Given the description of an element on the screen output the (x, y) to click on. 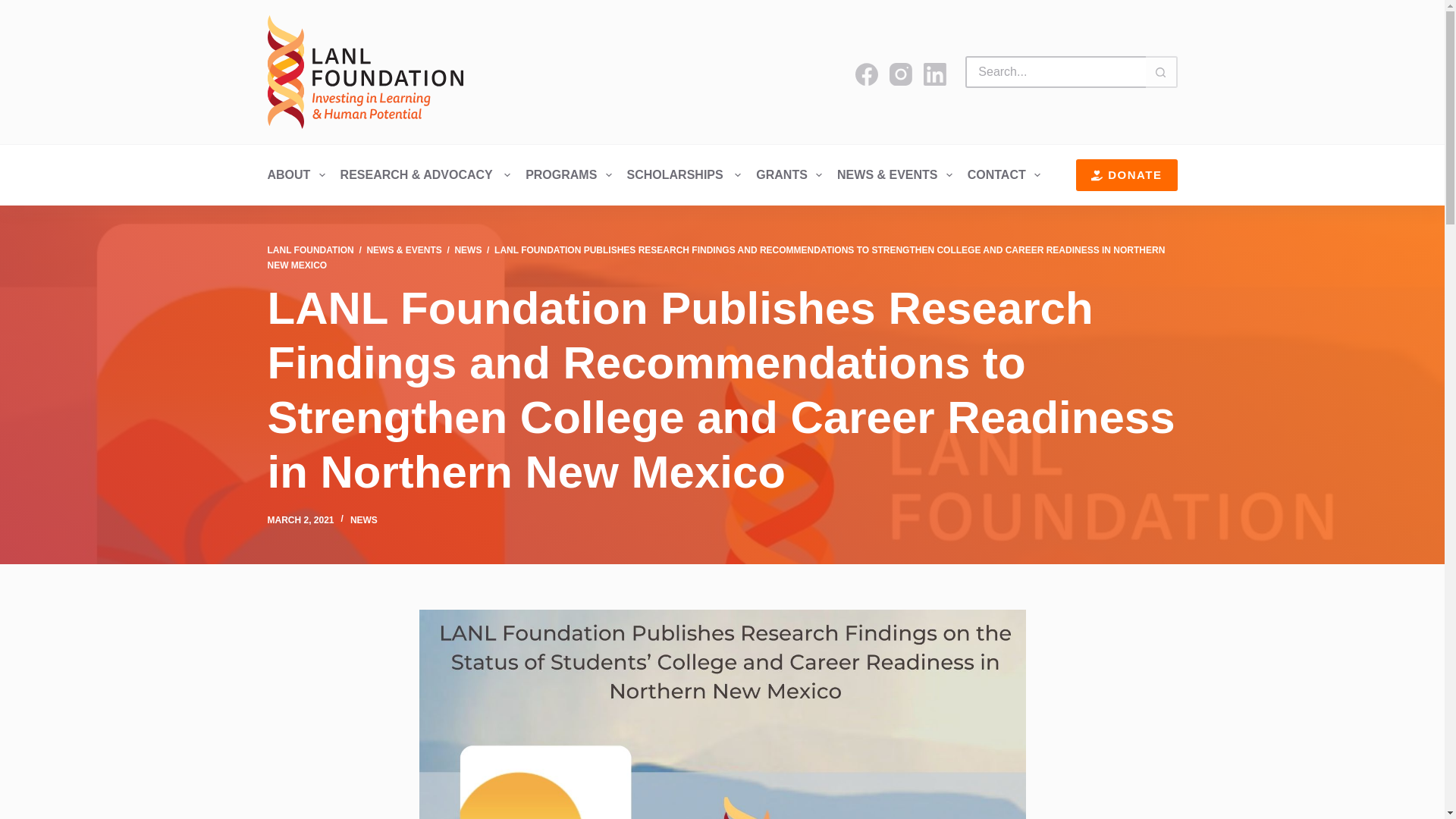
Go to LANL Foundation. (309, 249)
Skip to content (15, 7)
Go to the News Category archives. (467, 249)
Search for... (1054, 71)
